Given the description of an element on the screen output the (x, y) to click on. 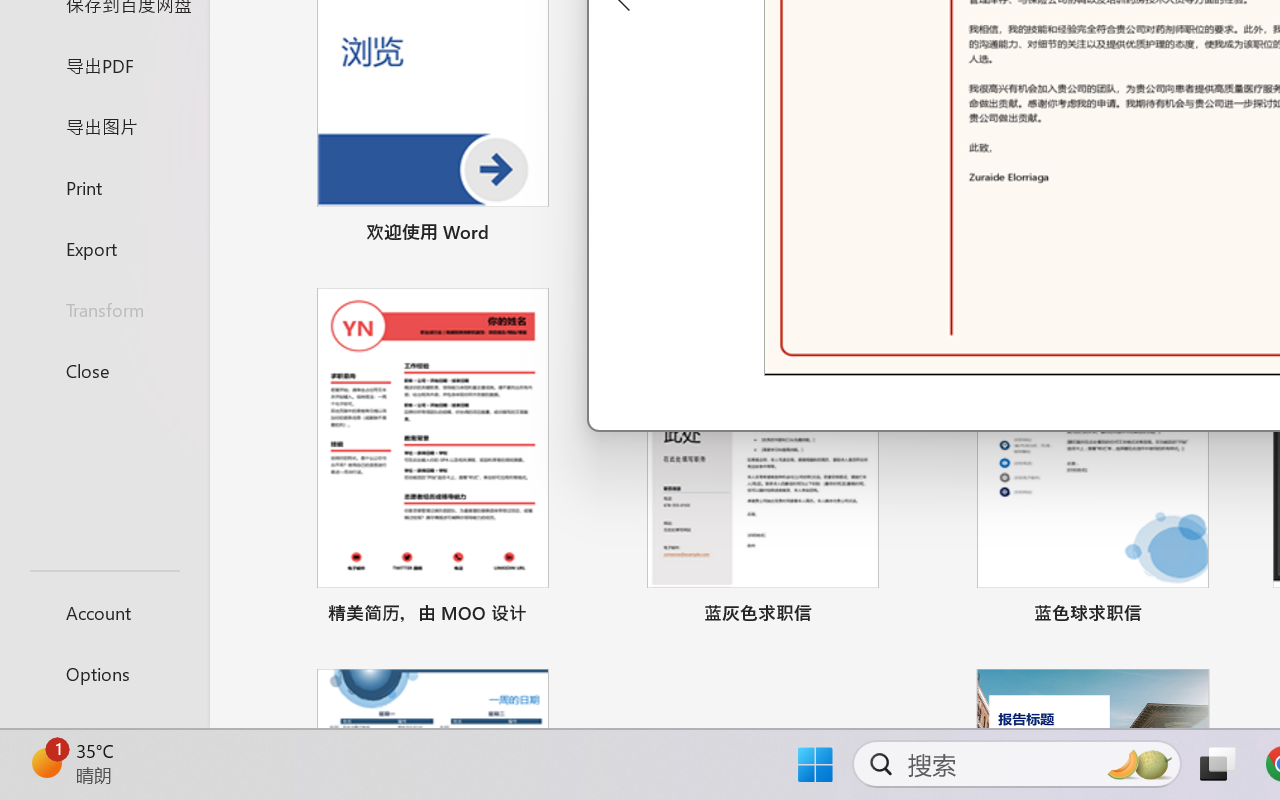
Account (104, 612)
